Given the description of an element on the screen output the (x, y) to click on. 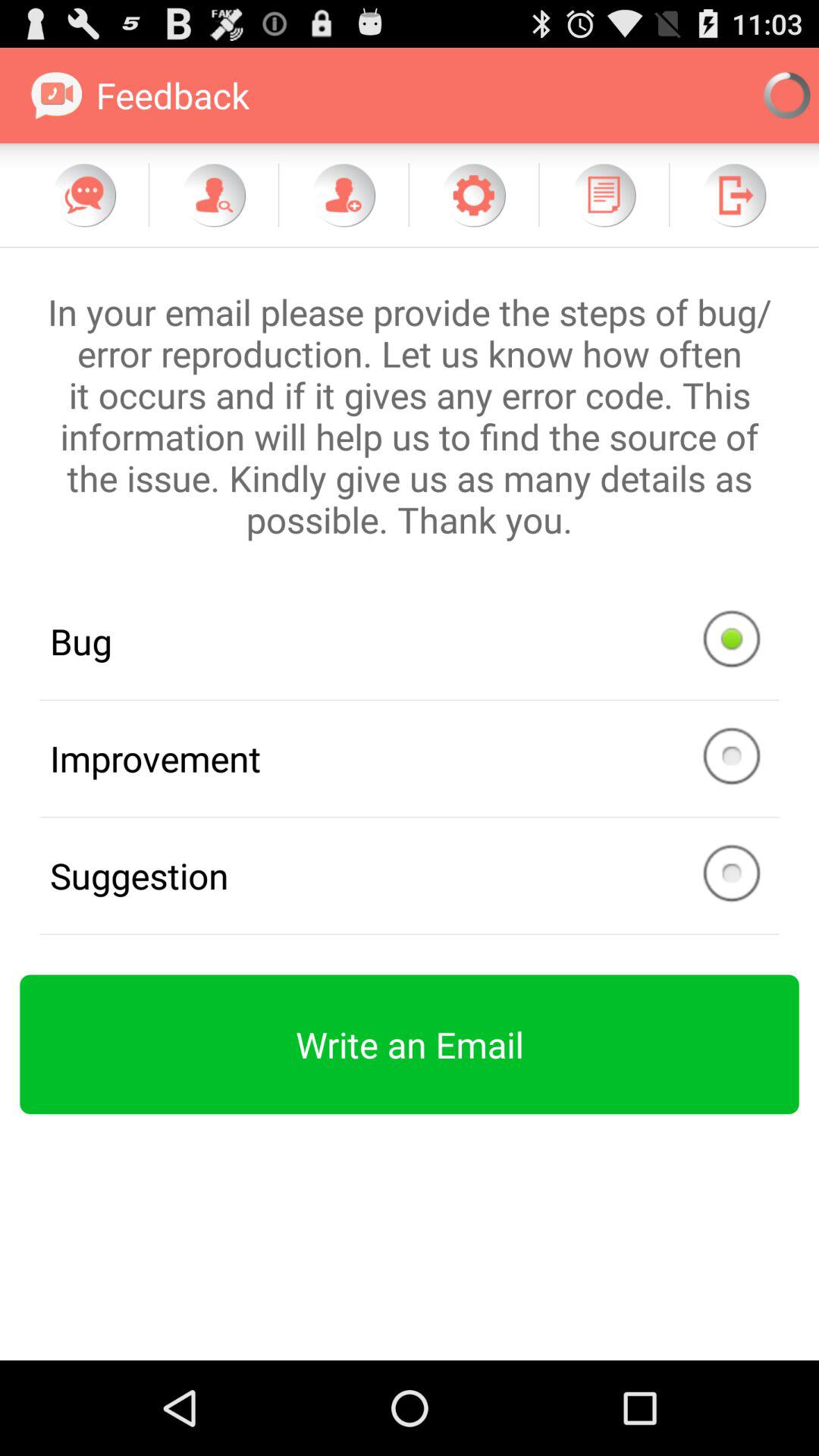
open the icon below the bug icon (409, 758)
